Given the description of an element on the screen output the (x, y) to click on. 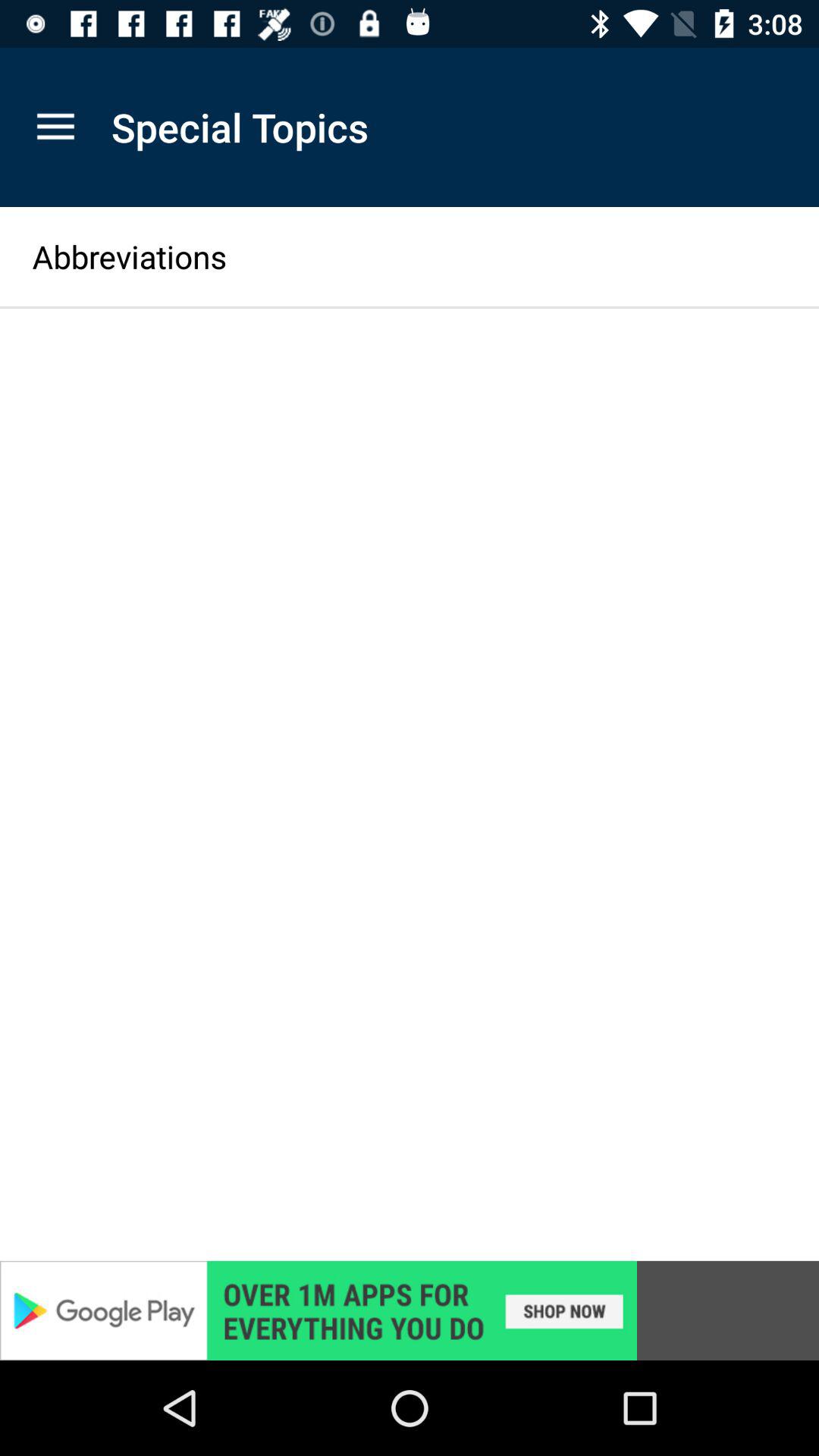
in app advertisement (409, 1310)
